Given the description of an element on the screen output the (x, y) to click on. 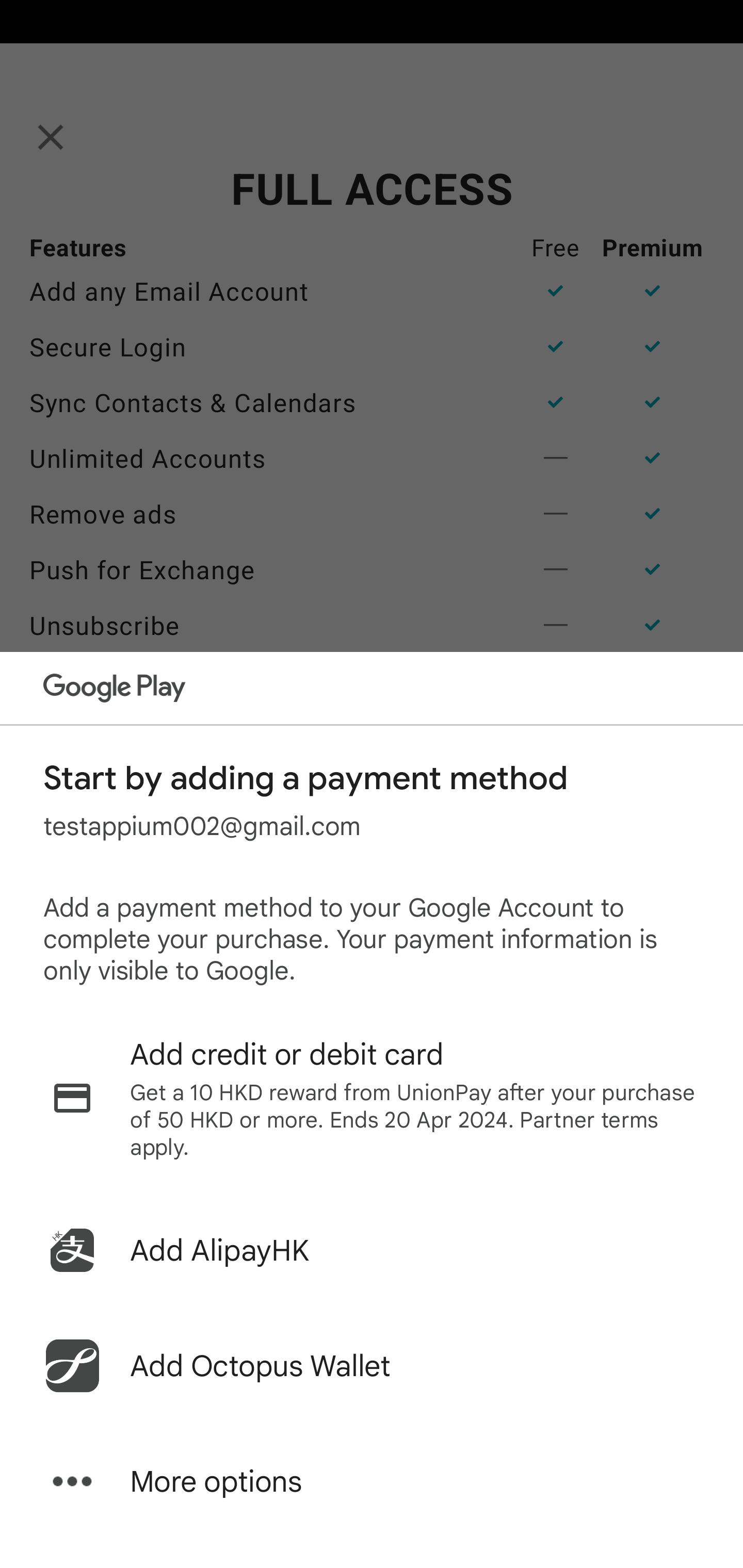
Add AlipayHK (371, 1250)
Add Octopus Wallet (371, 1365)
More options (371, 1481)
